Given the description of an element on the screen output the (x, y) to click on. 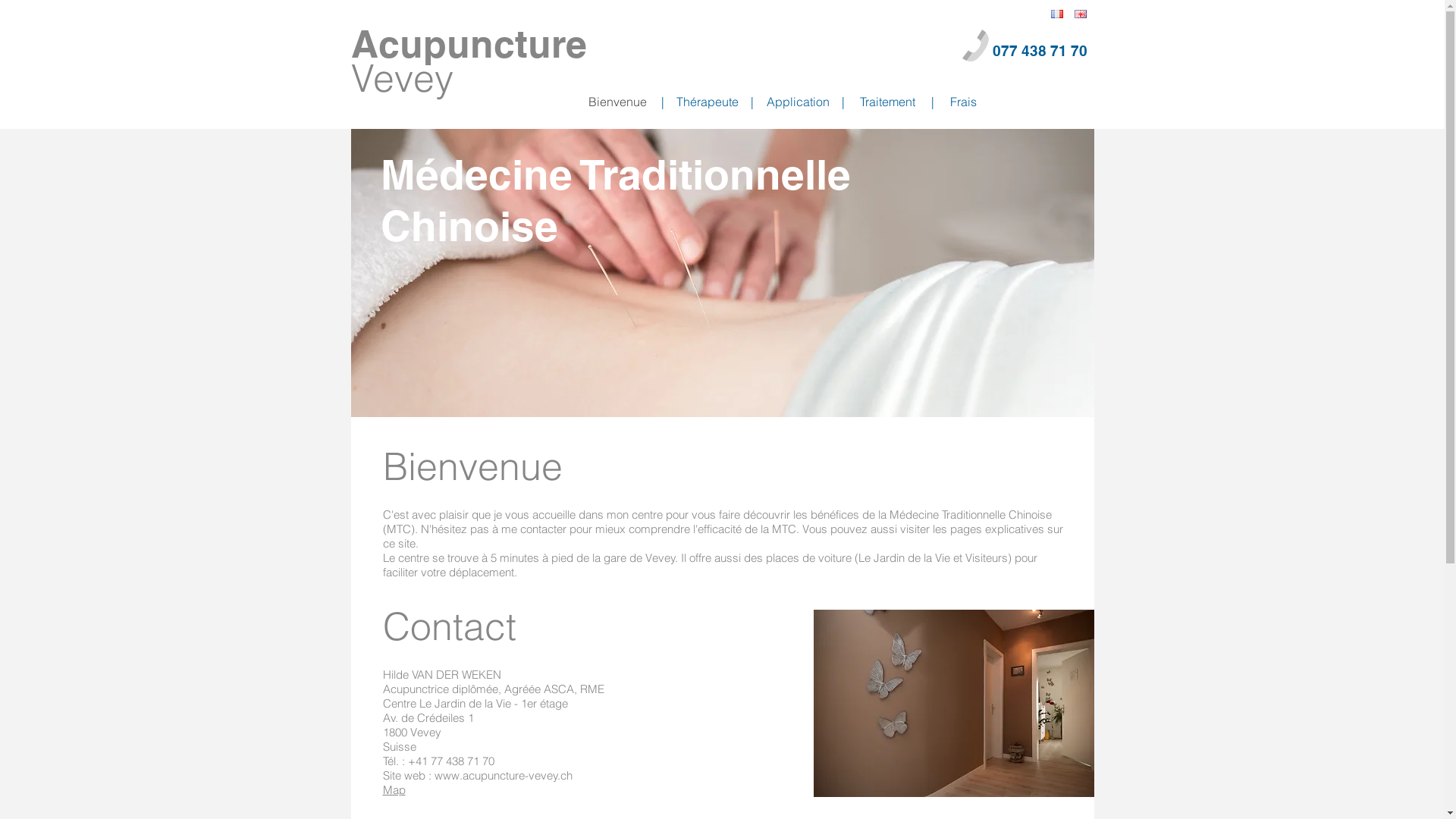
Application Element type: text (797, 101)
Frais Element type: text (962, 101)
Map Element type: text (393, 789)
Vevey Element type: text (401, 77)
Traitement Element type: text (886, 101)
| Element type: text (931, 101)
20151102-072g_Sylvain.jpg Element type: hover (721, 272)
| Element type: text (842, 101)
www.acupuncture-vevey.ch Element type: text (502, 775)
Acupuncture Element type: text (468, 43)
